Given the description of an element on the screen output the (x, y) to click on. 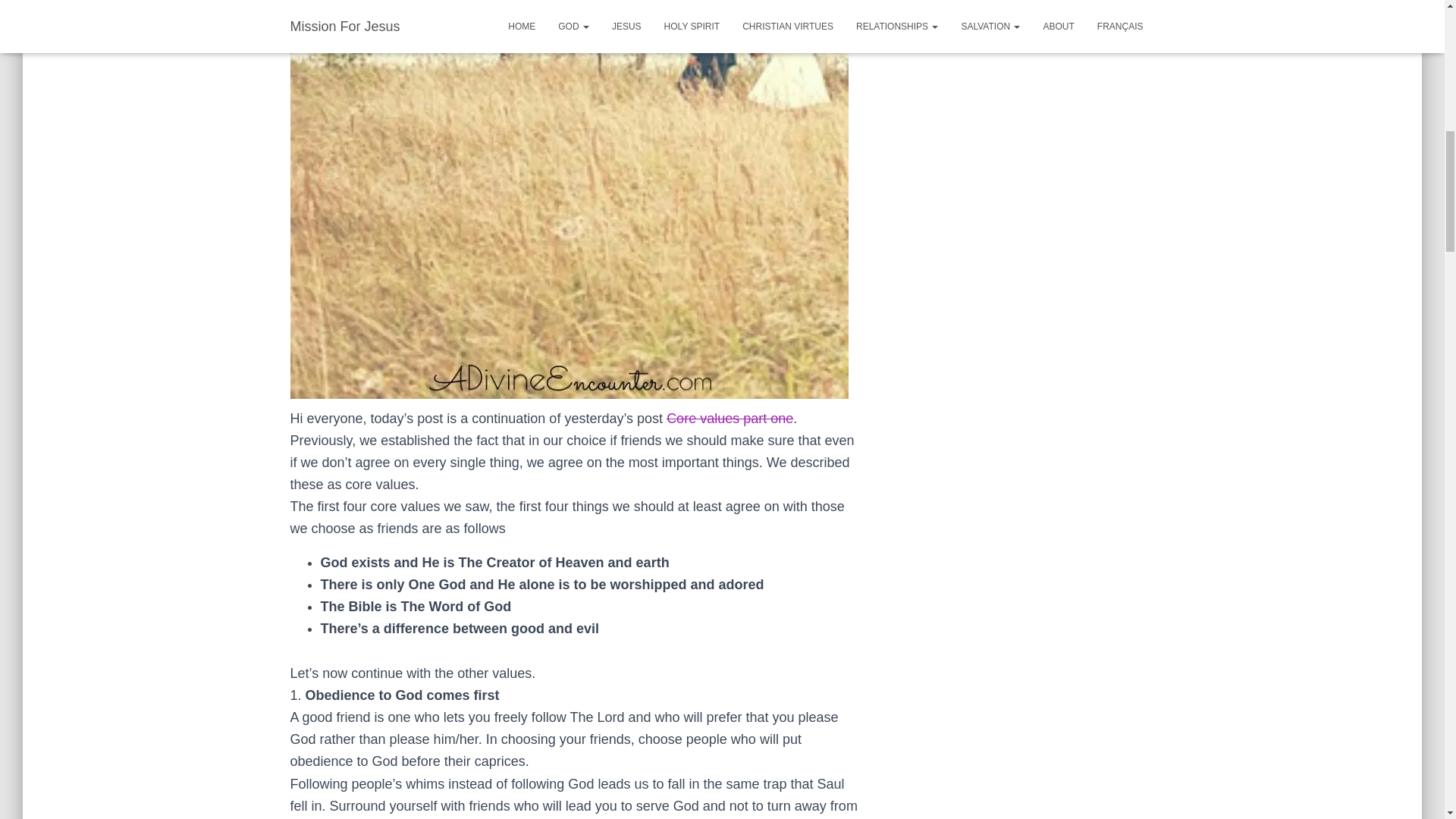
Core values part one (729, 418)
